Given the description of an element on the screen output the (x, y) to click on. 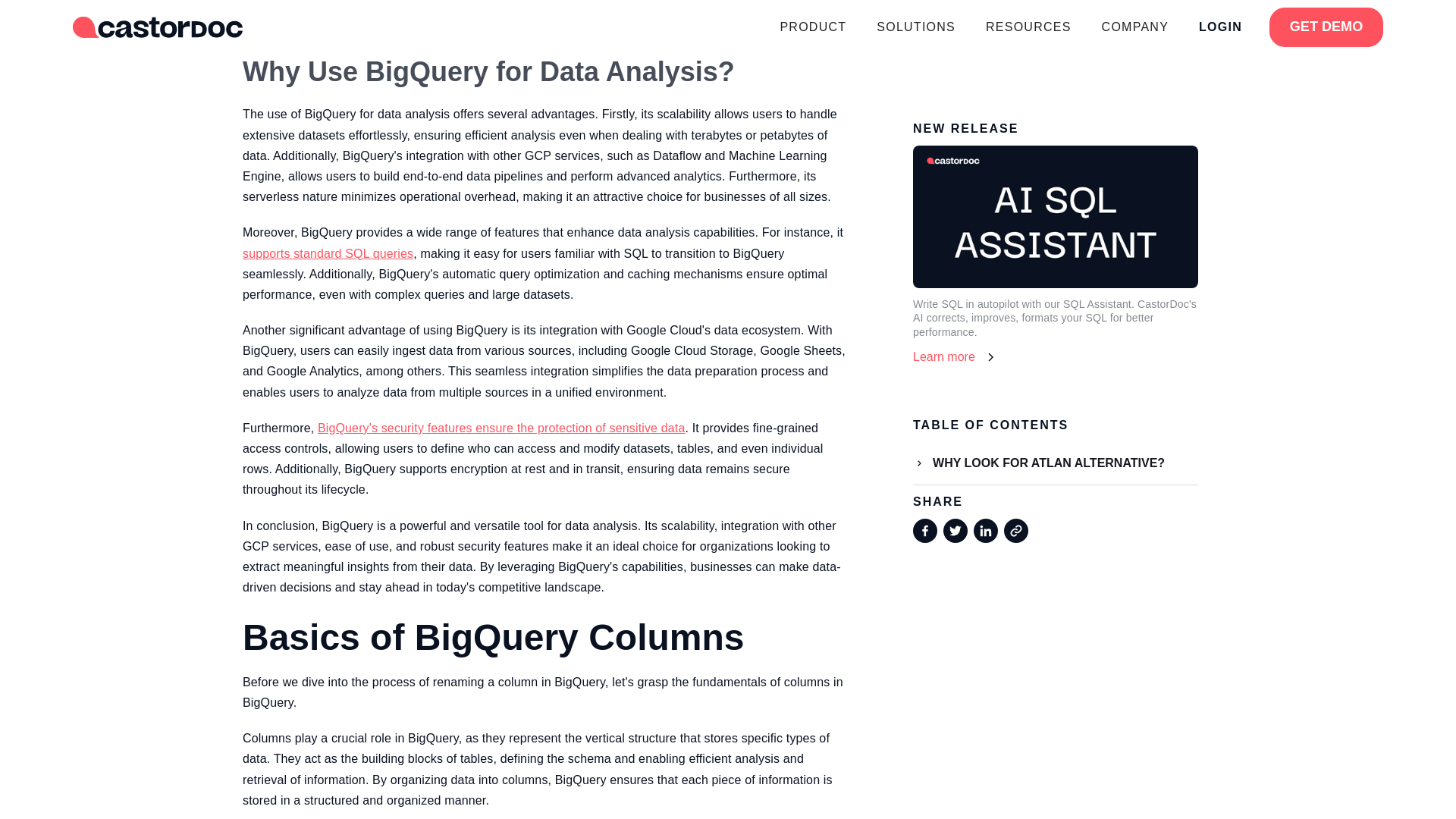
supports standard SQL queries (328, 253)
BigQuery's serverless architecture (475, 6)
